Given the description of an element on the screen output the (x, y) to click on. 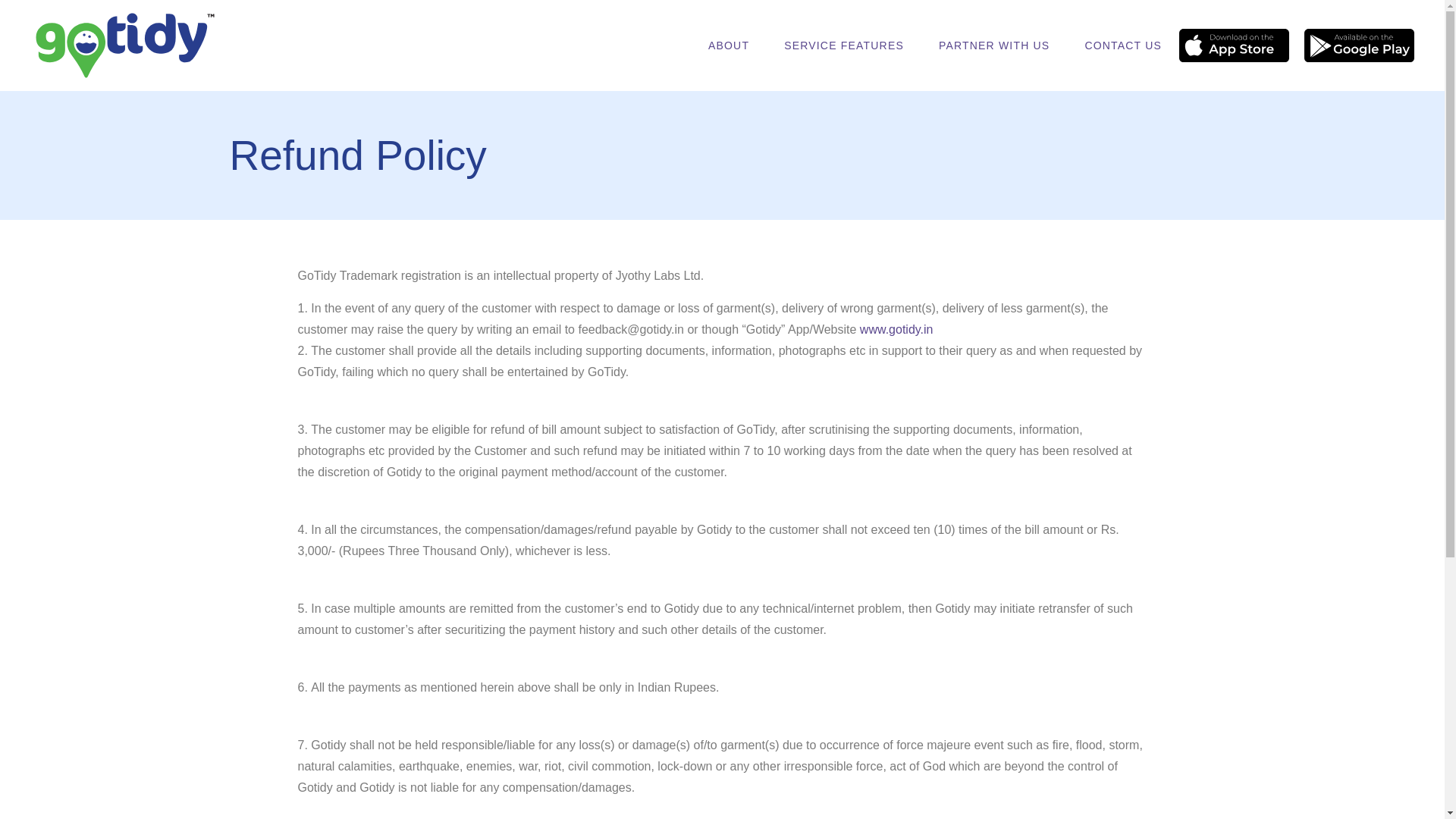
ANDROID (1358, 45)
CONTACT US (1123, 45)
PARTNER WITH US (994, 45)
www.gotidy.in (896, 328)
IOS (1233, 45)
SERVICE FEATURES (844, 45)
